Given the description of an element on the screen output the (x, y) to click on. 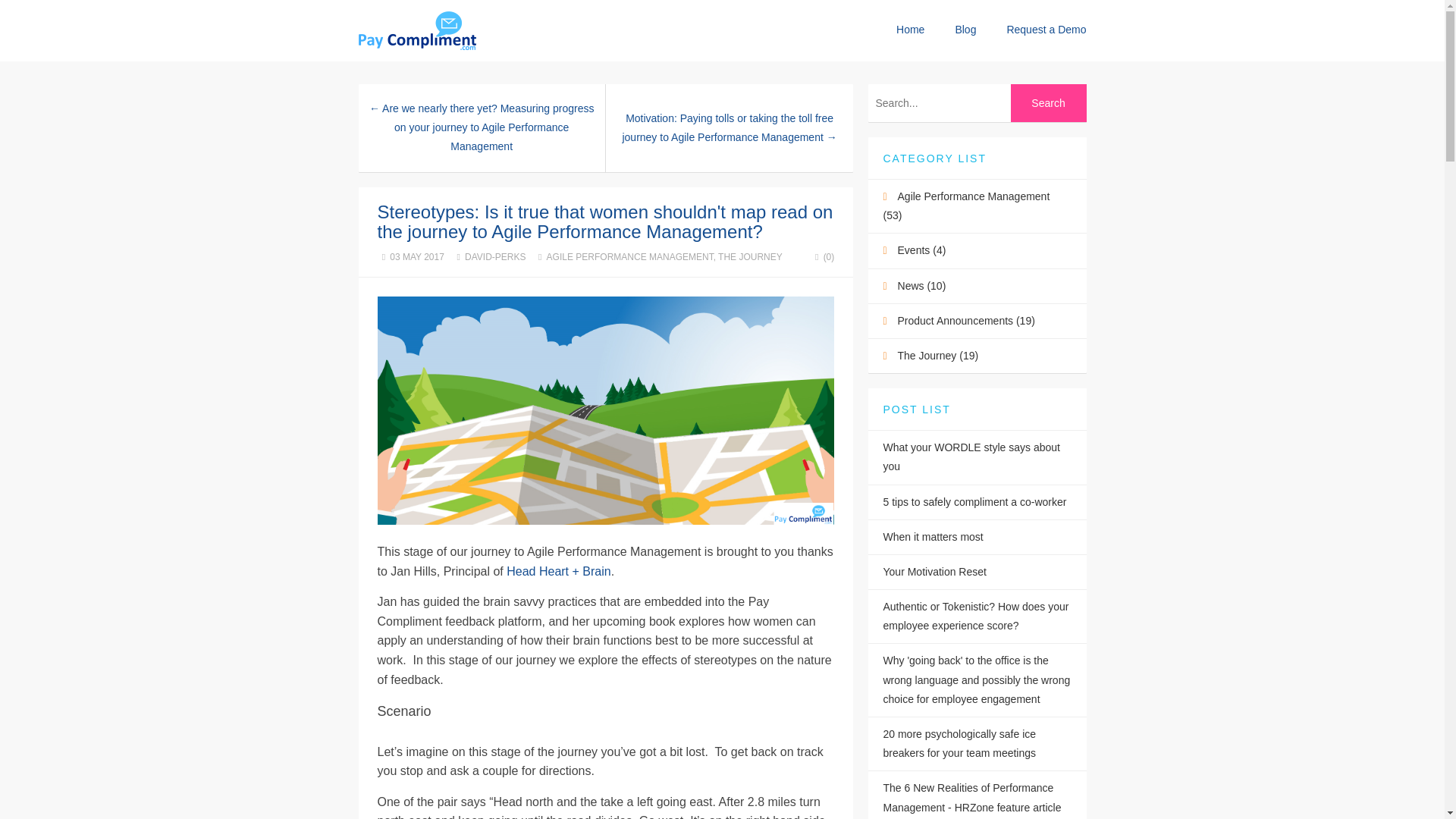
DAVID-PERKS (494, 256)
Request a Demo (1046, 29)
Search (1048, 103)
Category: Events (922, 250)
Home (910, 29)
Category: Agile Performance Management (965, 205)
THE JOURNEY (750, 256)
AGILE PERFORMANCE MANAGEMENT (630, 256)
Blog (965, 29)
